Given the description of an element on the screen output the (x, y) to click on. 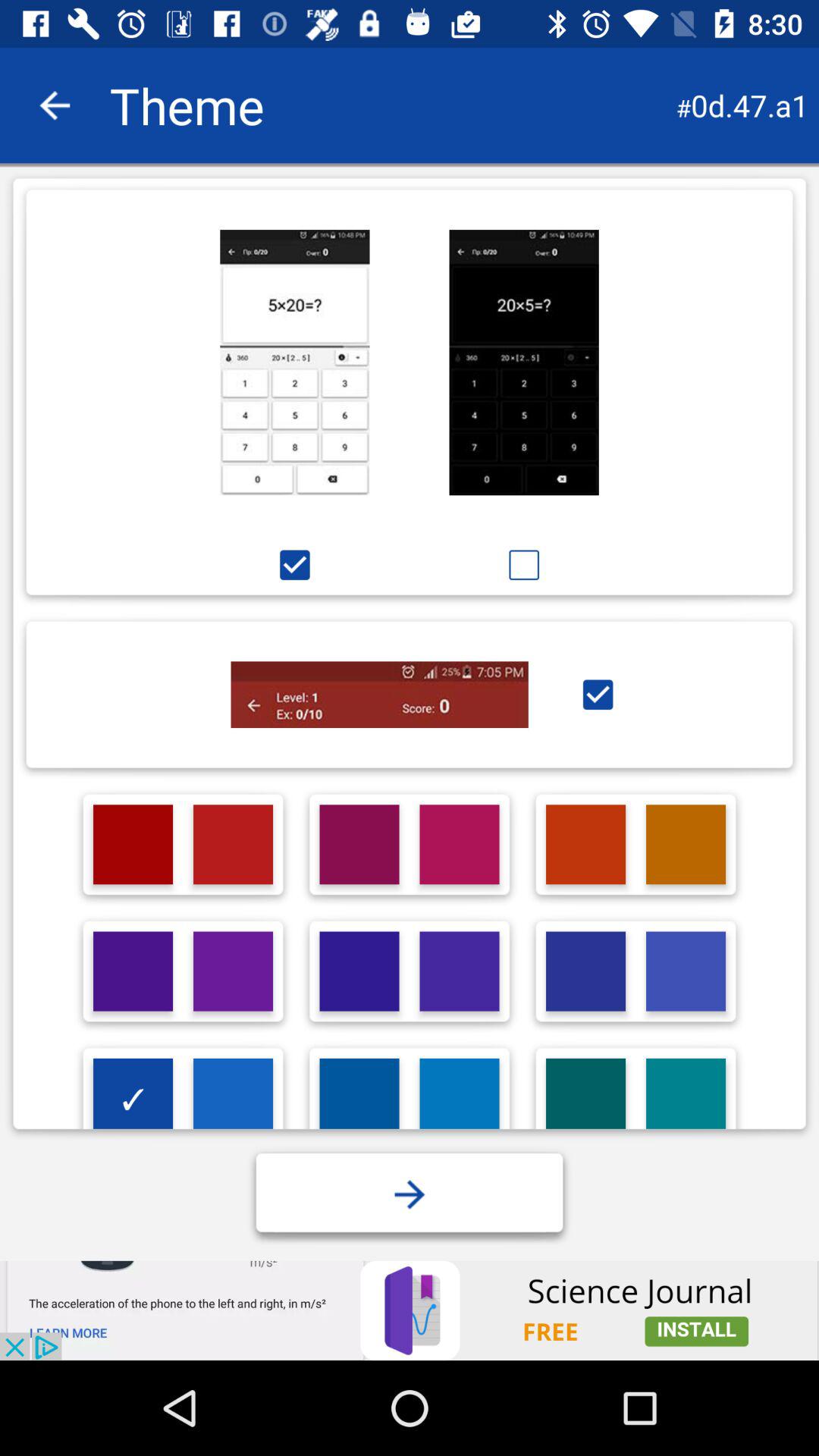
select light green option (585, 1098)
